Given the description of an element on the screen output the (x, y) to click on. 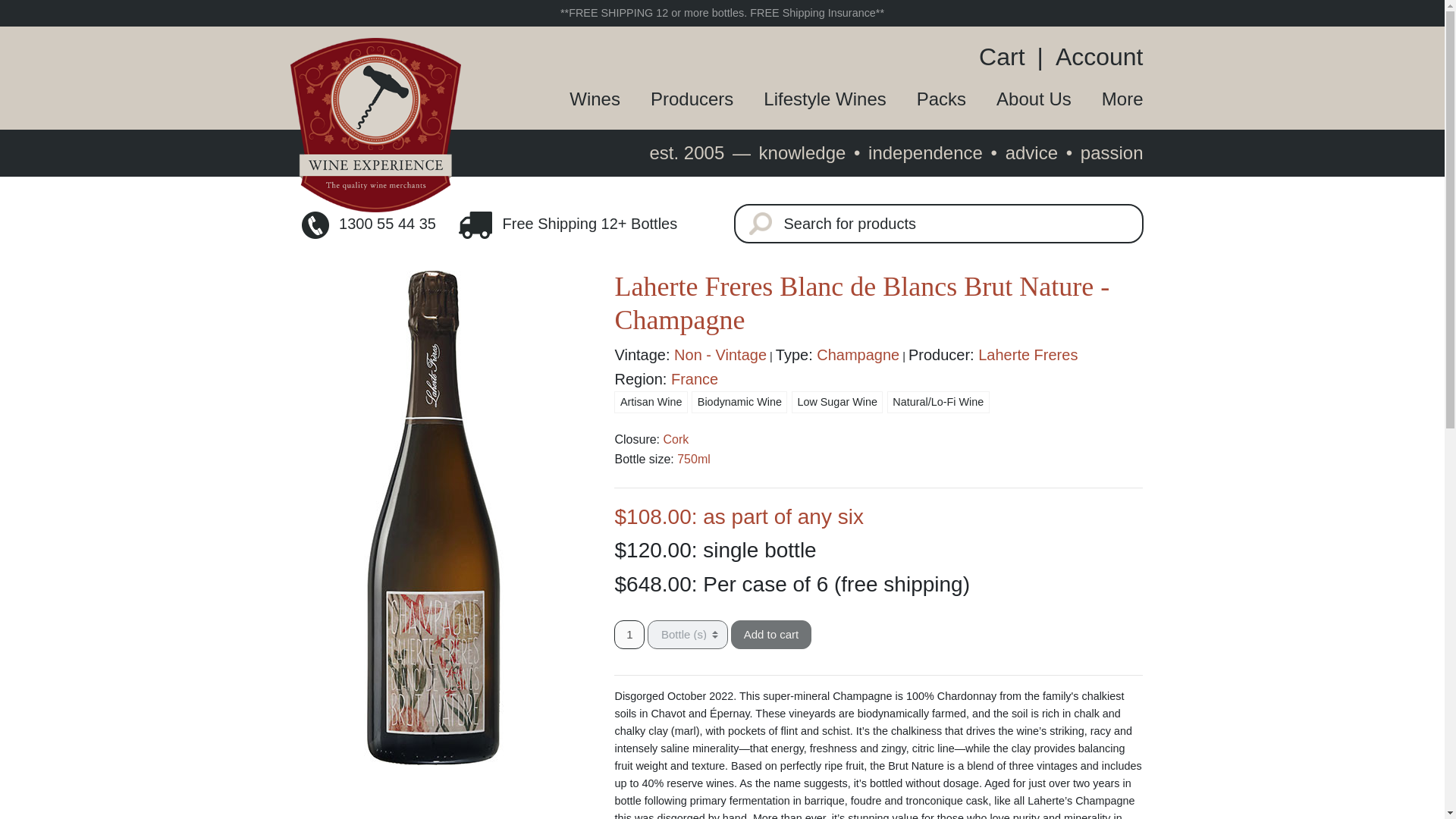
Wines (579, 98)
Add to cart (771, 634)
Account (1092, 56)
1 (629, 634)
Cart (1007, 56)
